Given the description of an element on the screen output the (x, y) to click on. 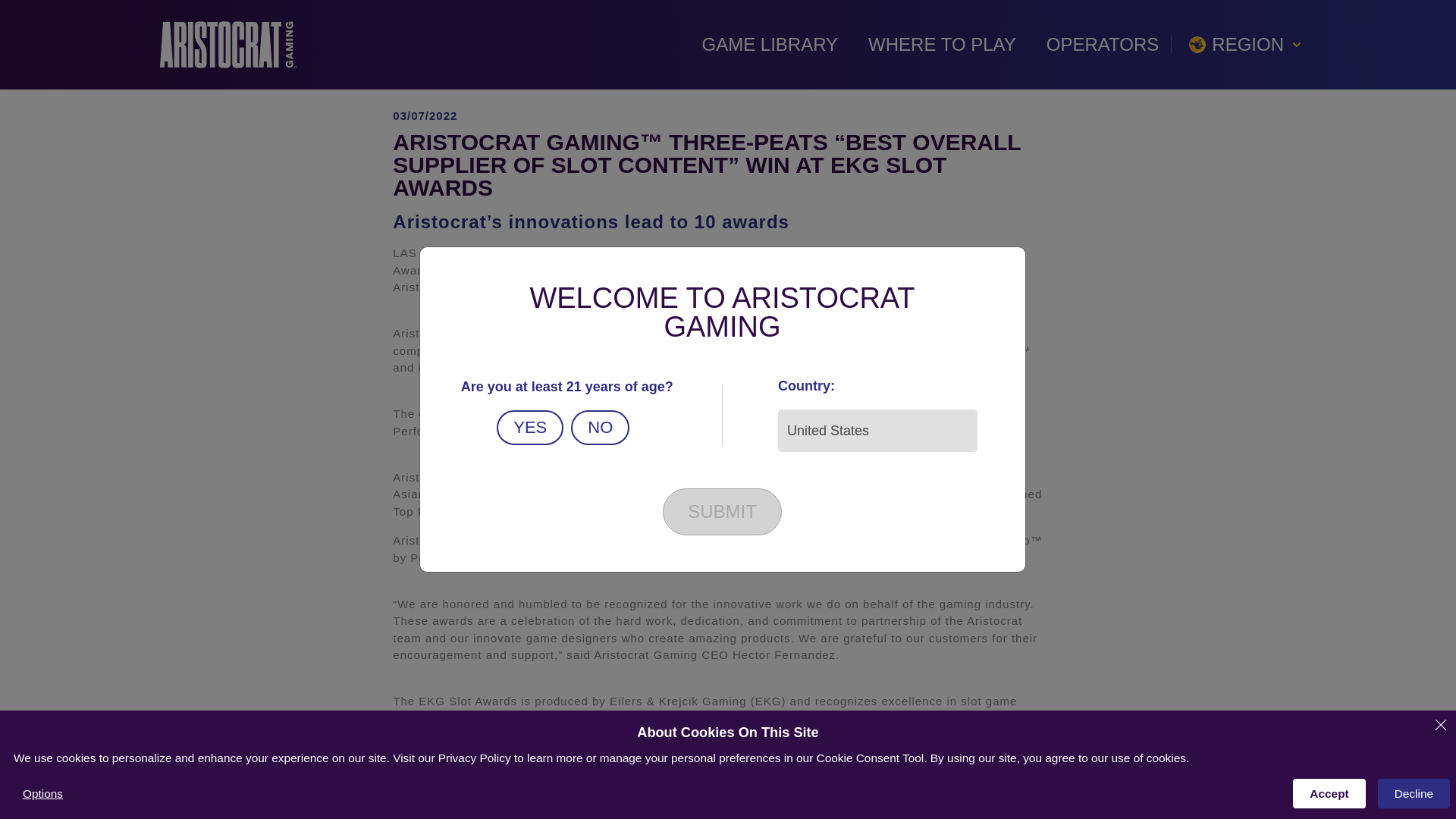
WHERE TO PLAY (941, 44)
United States (876, 430)
United States (876, 430)
OPERATORS (1101, 44)
GAME LIBRARY (769, 44)
SUBMIT (721, 511)
